Given the description of an element on the screen output the (x, y) to click on. 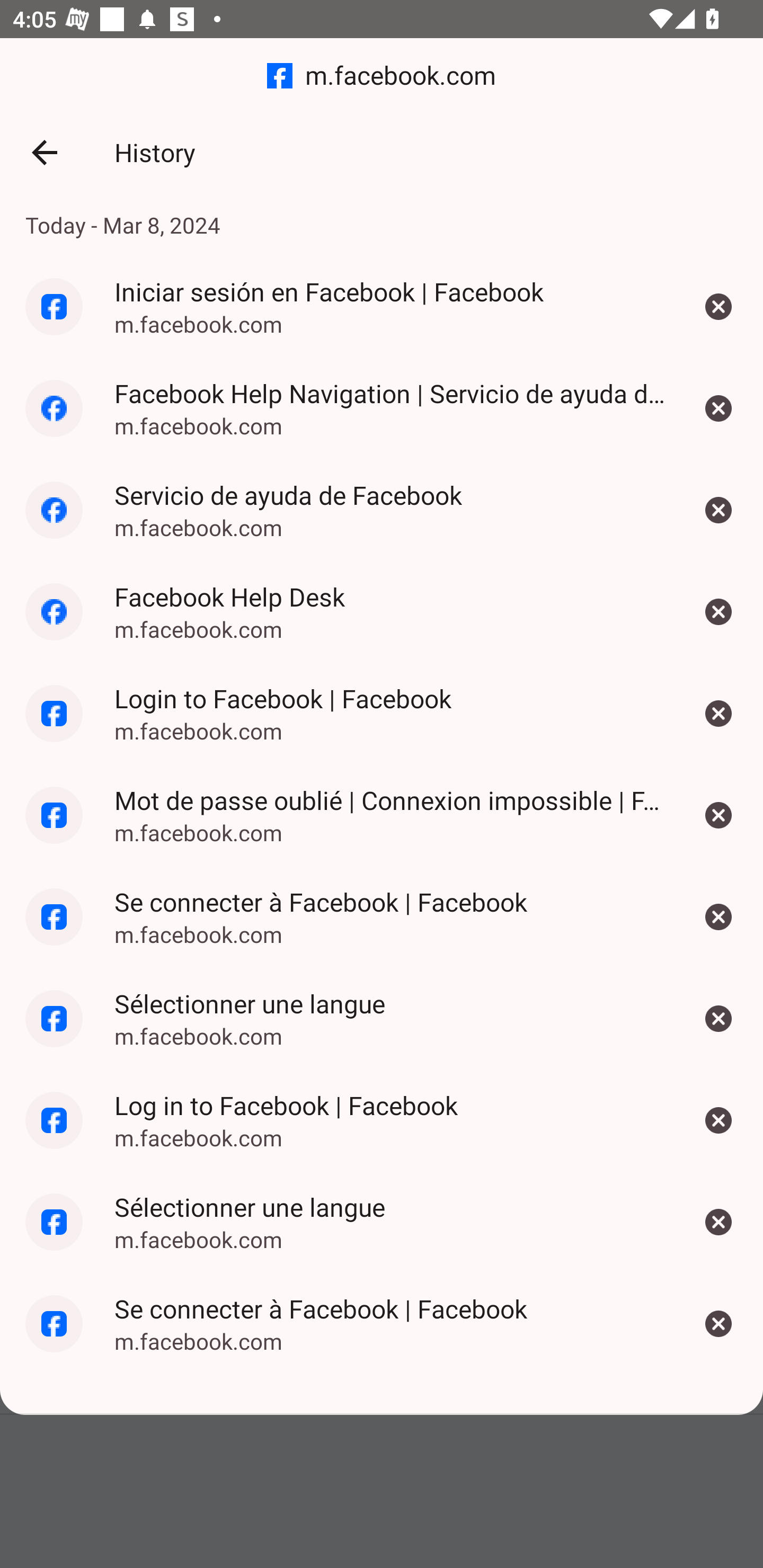
m.facebook.com (381, 75)
Back (44, 152)
Iniciar sesión en Facebook | Facebook Remove (718, 306)
Servicio de ayuda de Facebook Remove (718, 510)
Facebook Help Desk Remove (718, 612)
Login to Facebook | Facebook Remove (718, 714)
Se connecter à Facebook | Facebook Remove (718, 916)
Sélectionner une langue Remove (718, 1018)
Log in to Facebook | Facebook Remove (718, 1120)
Sélectionner une langue Remove (718, 1222)
Se connecter à Facebook | Facebook Remove (718, 1324)
